Given the description of an element on the screen output the (x, y) to click on. 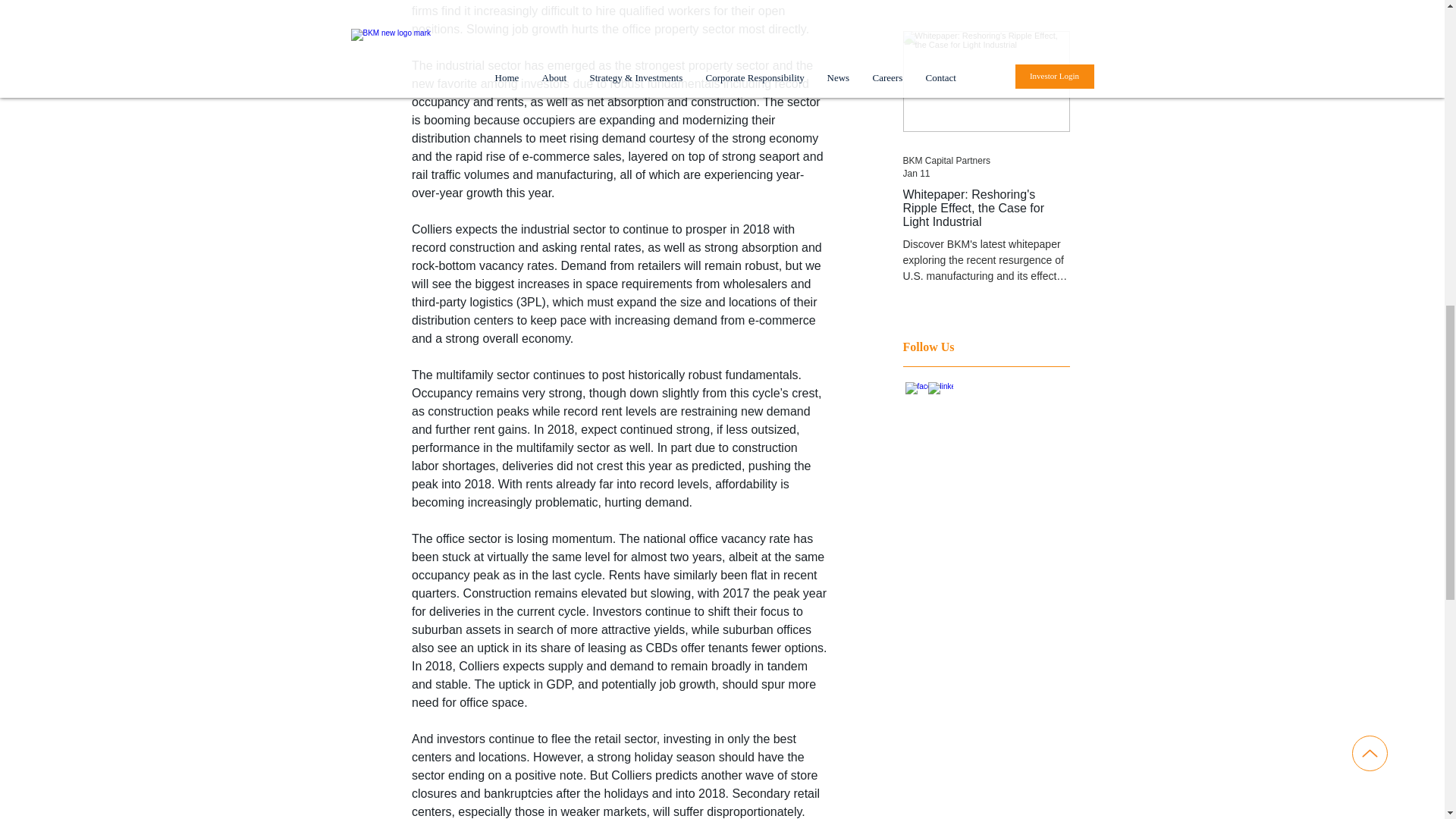
BKM Capital Partners (946, 160)
Jan 11 (916, 173)
